Given the description of an element on the screen output the (x, y) to click on. 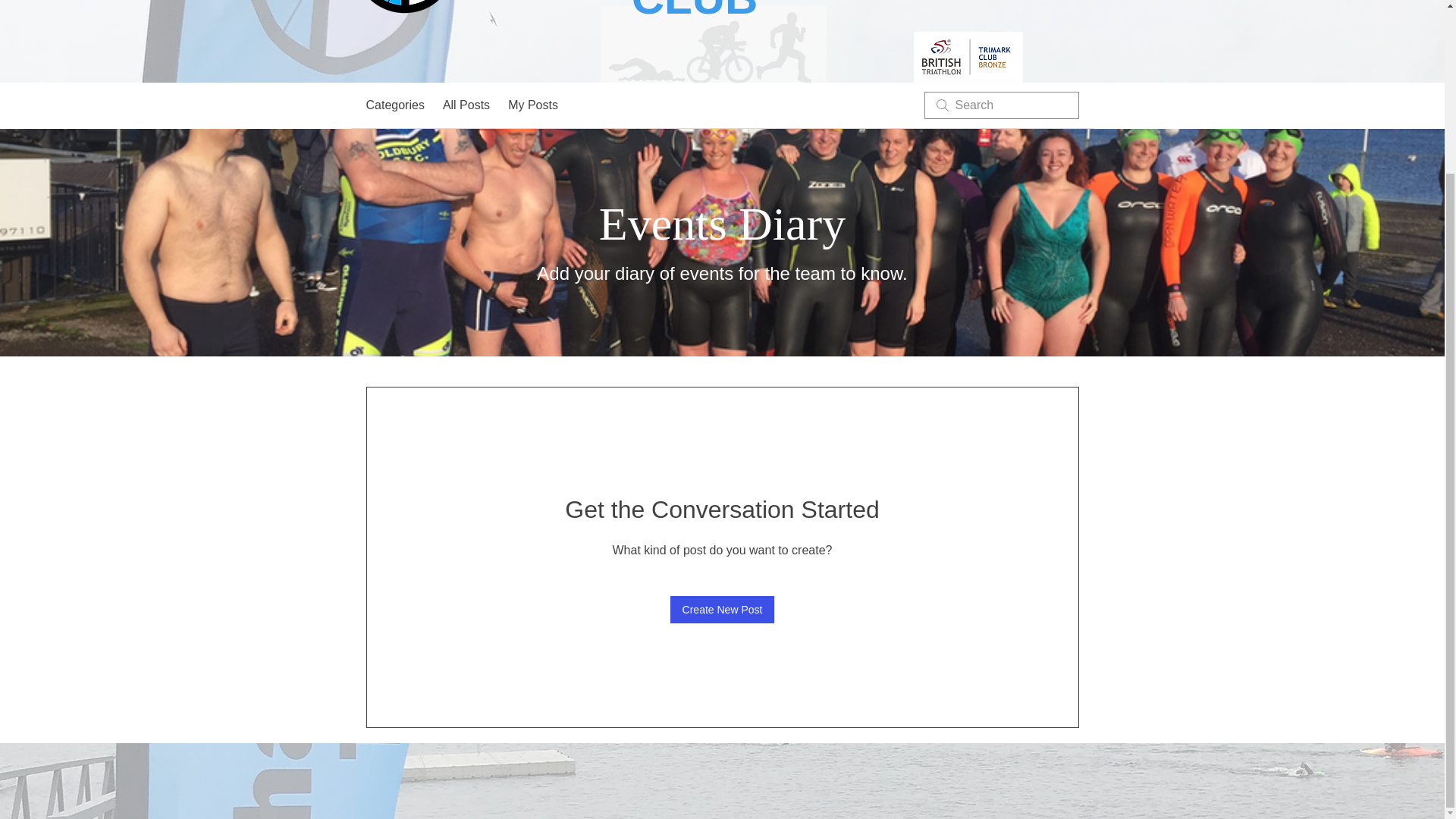
Create New Post (721, 609)
All Posts (465, 105)
My Posts (532, 105)
Categories (394, 105)
